Given the description of an element on the screen output the (x, y) to click on. 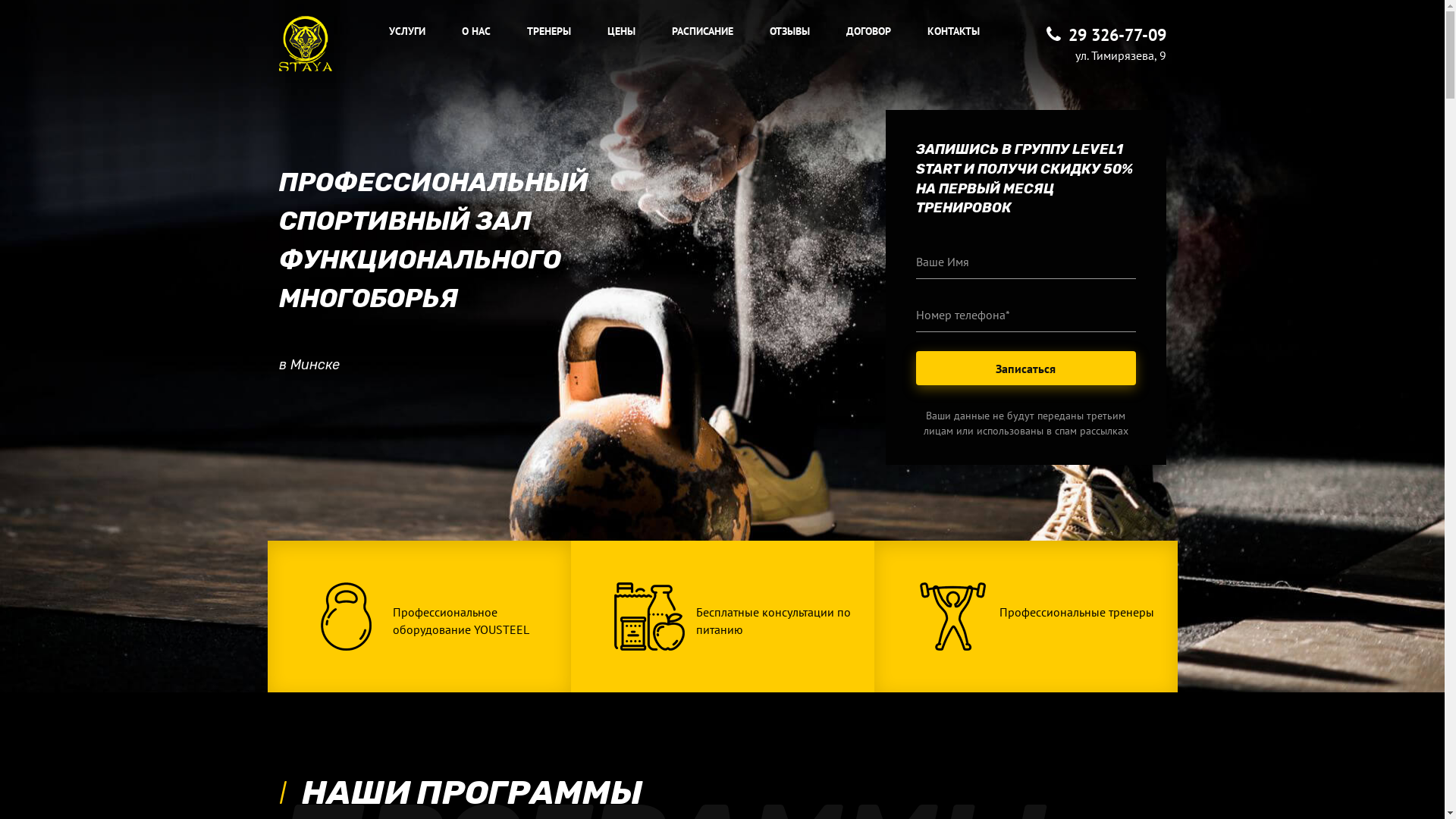
29 326-77-09 Element type: text (1106, 34)
